Given the description of an element on the screen output the (x, y) to click on. 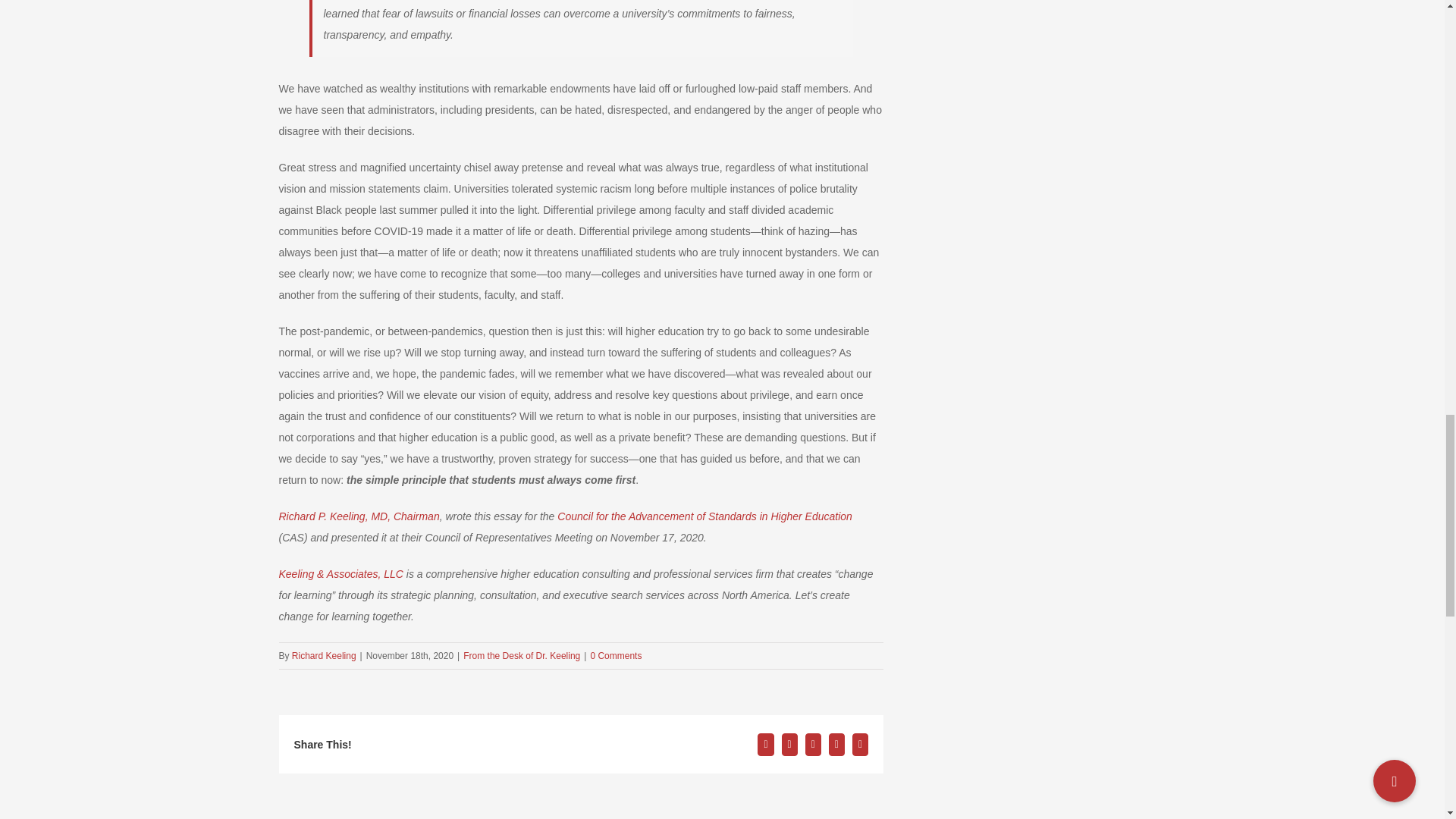
0 Comments (615, 655)
From the Desk of Dr. Keeling (521, 655)
Posts by Richard Keeling (324, 655)
Richard P. Keeling, MD, Chairman (359, 516)
Richard Keeling (324, 655)
Council for the Advancement of Standards in Higher Education (704, 516)
